Given the description of an element on the screen output the (x, y) to click on. 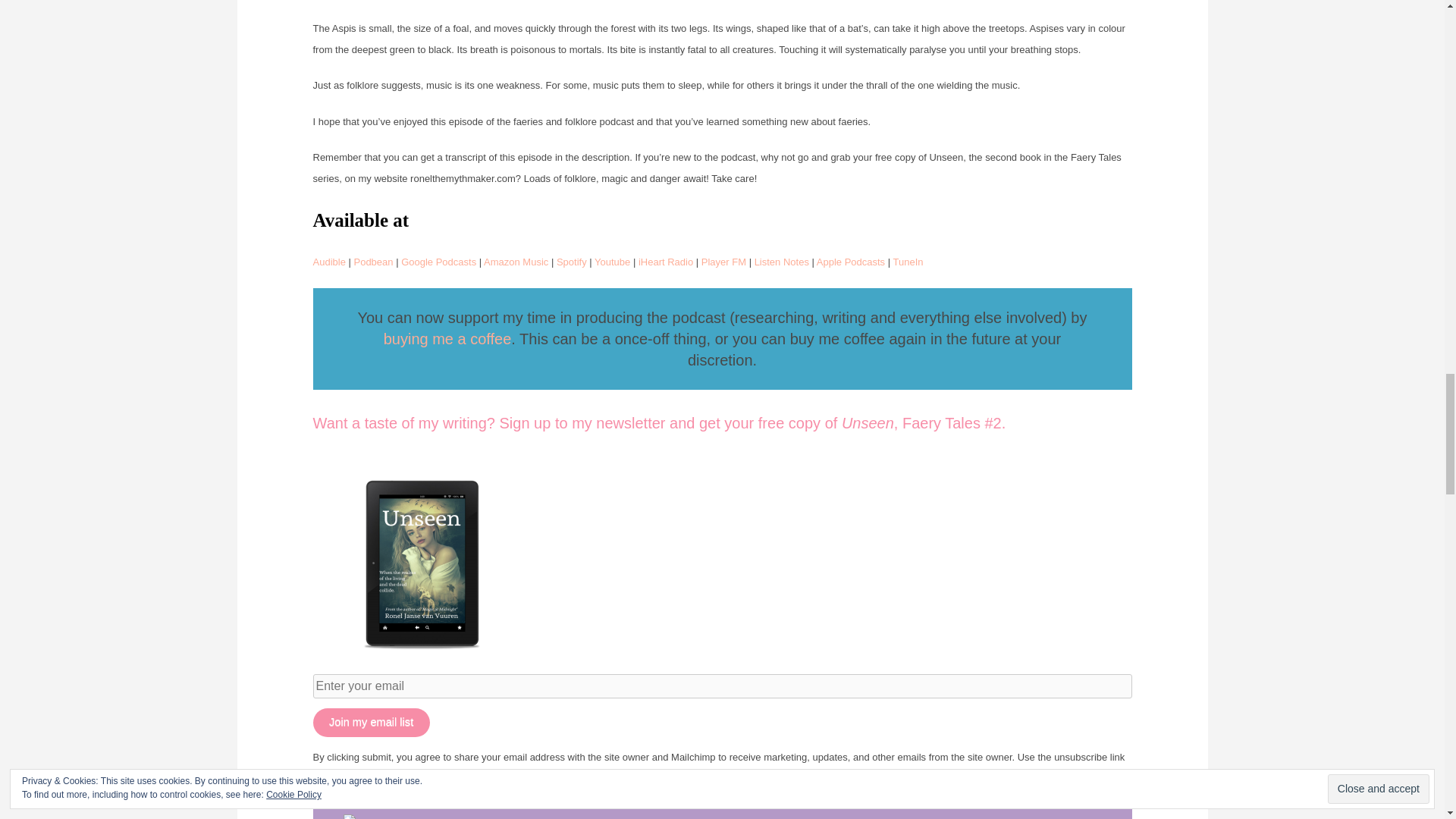
Audible (329, 261)
Enter your email (722, 686)
Google Podcasts (438, 261)
Podbean (373, 261)
